Given the description of an element on the screen output the (x, y) to click on. 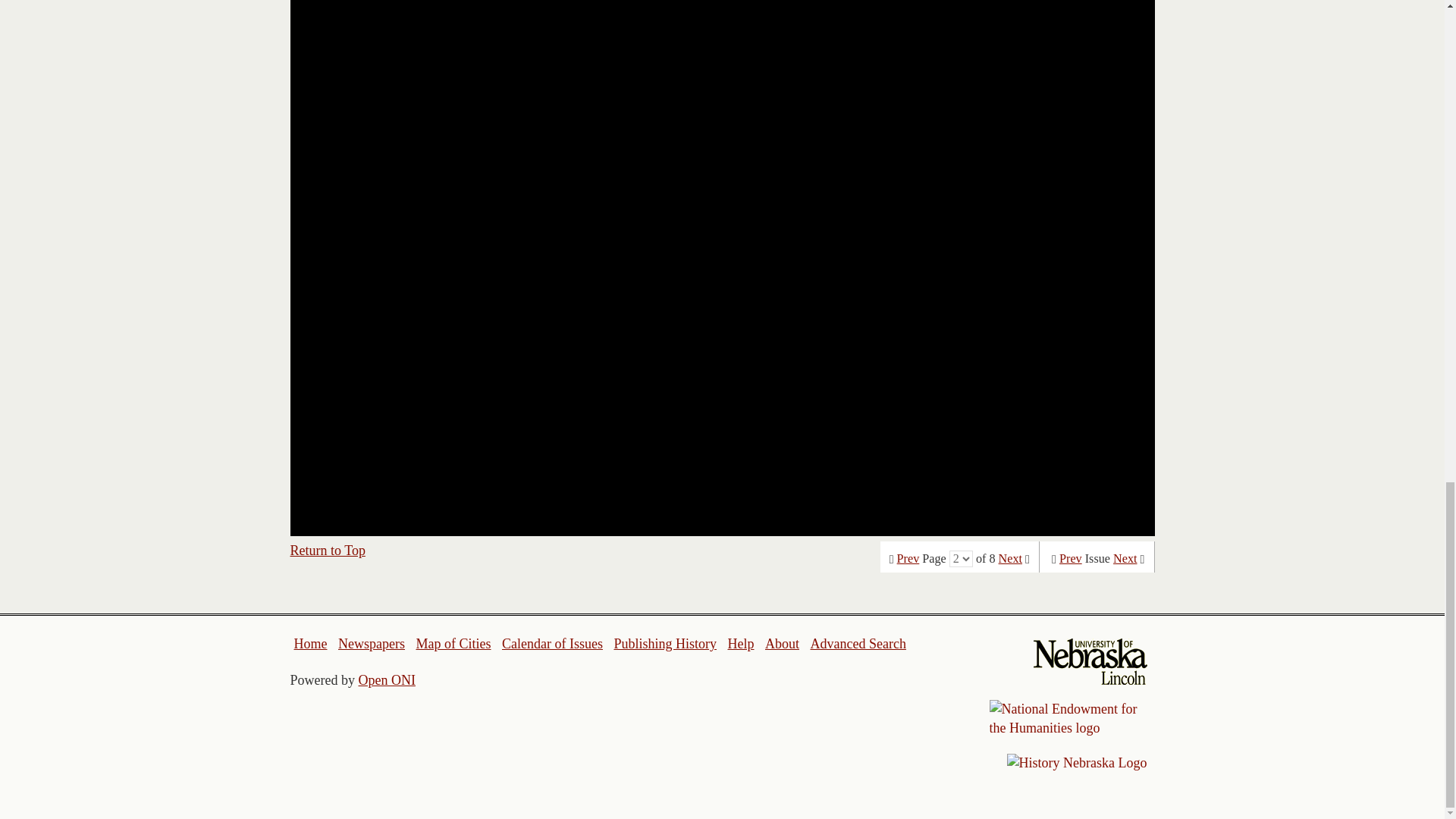
About (782, 643)
Next (1125, 558)
Calendar of Issues (552, 643)
Map of Cities (452, 643)
Help (740, 643)
Open ONI (386, 679)
Prev (908, 558)
Return to Top (327, 549)
Home (310, 643)
Publishing History (664, 643)
